Given the description of an element on the screen output the (x, y) to click on. 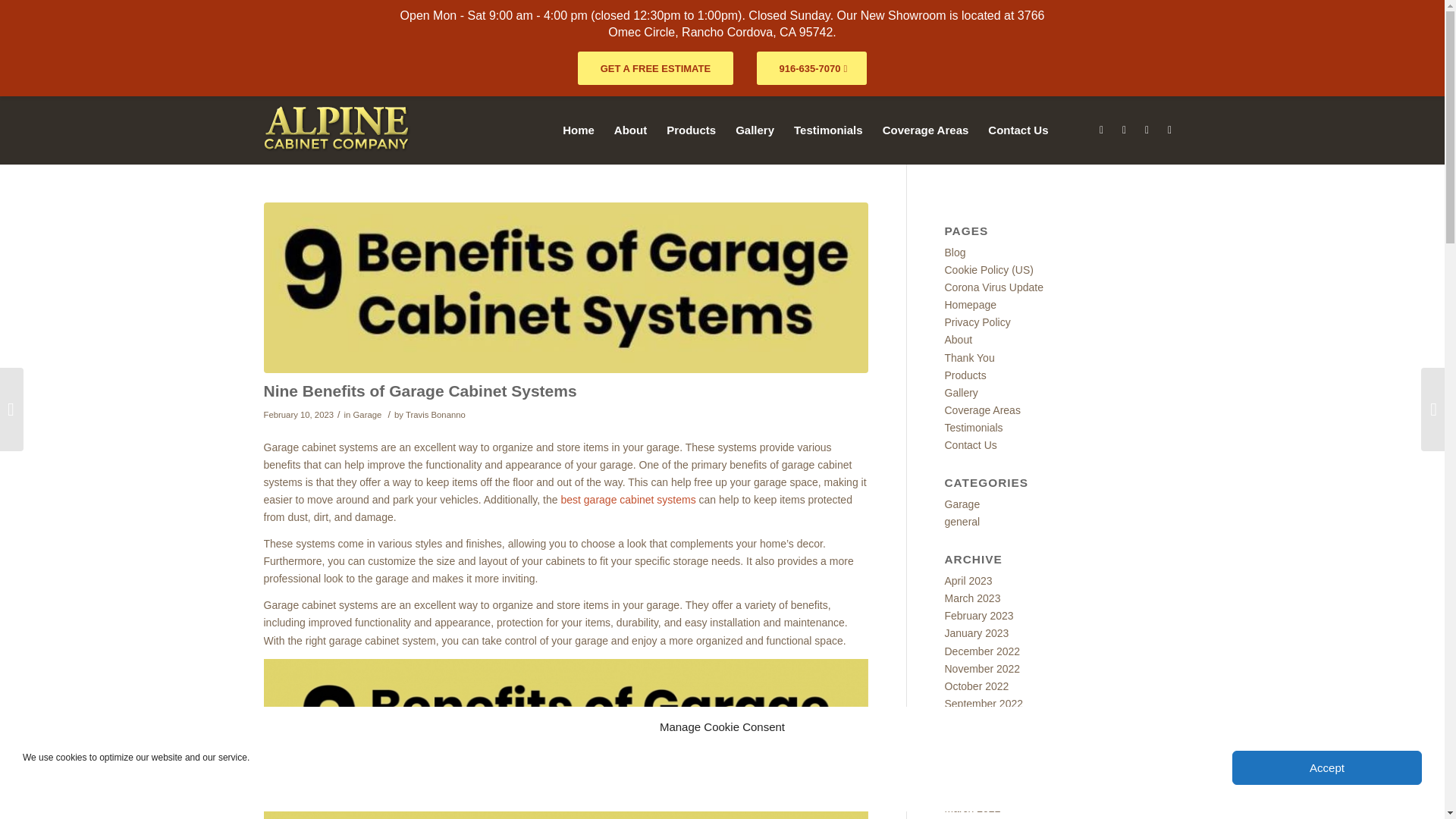
Twitter (1124, 128)
Products (690, 130)
Accept (1326, 767)
Travis Bonanno (435, 414)
Permanent Link: Nine Benefits of Garage Cabinet Systems (419, 390)
Nine Benefits of Garage Cabinet Systems (419, 390)
Contact Us (1018, 130)
Youtube (1169, 128)
Coverage Areas (925, 130)
Gplus (1146, 128)
